Given the description of an element on the screen output the (x, y) to click on. 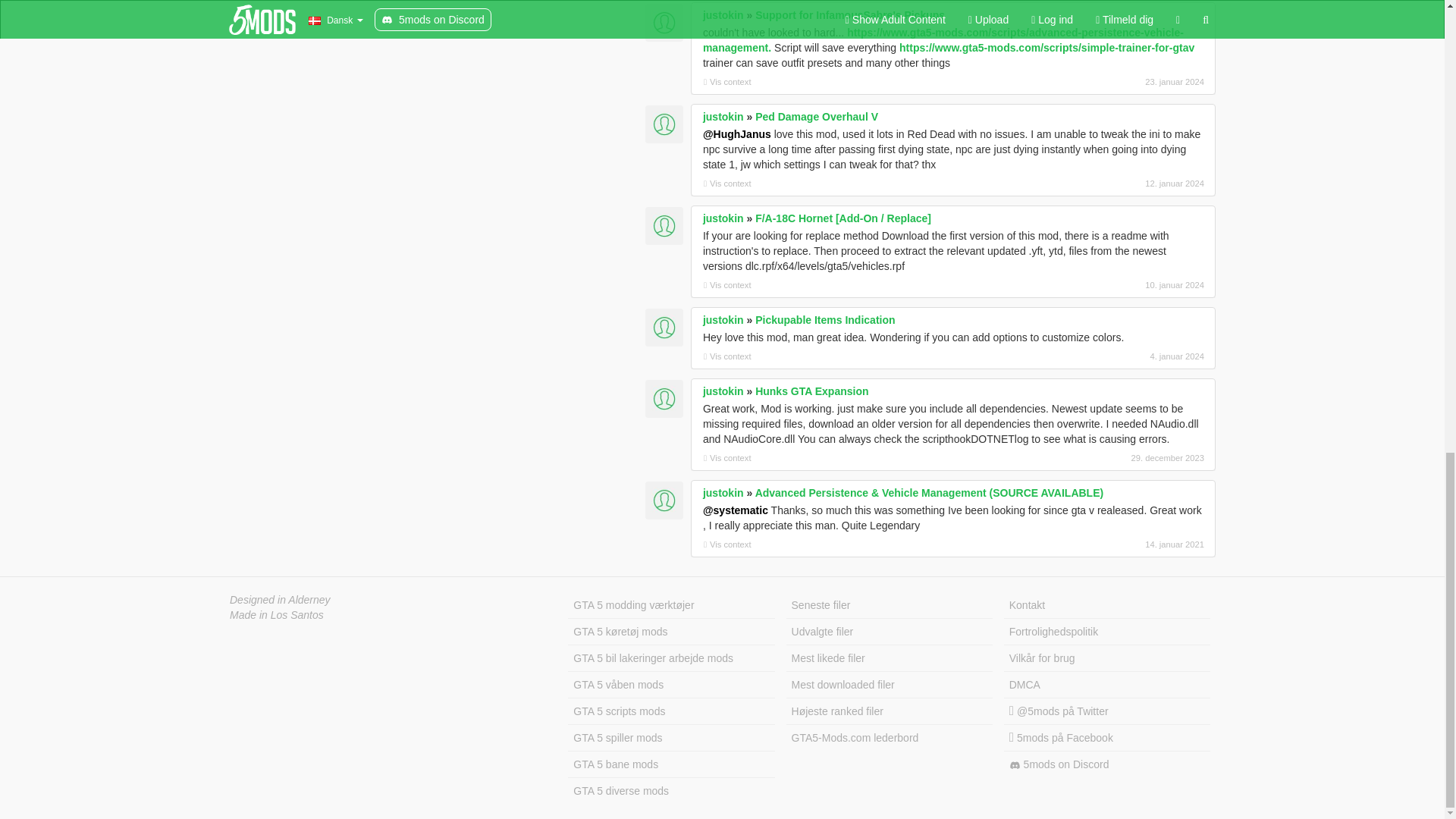
14. januar 2021, 18.22 (1124, 544)
29. december 2023, 10.07 (1124, 458)
10. januar 2024, 15.35 (1124, 284)
 4. januar 2024, 04.13 (1124, 356)
12. januar 2024, 05.31 (1124, 183)
23. januar 2024, 08.24 (1124, 81)
